Given the description of an element on the screen output the (x, y) to click on. 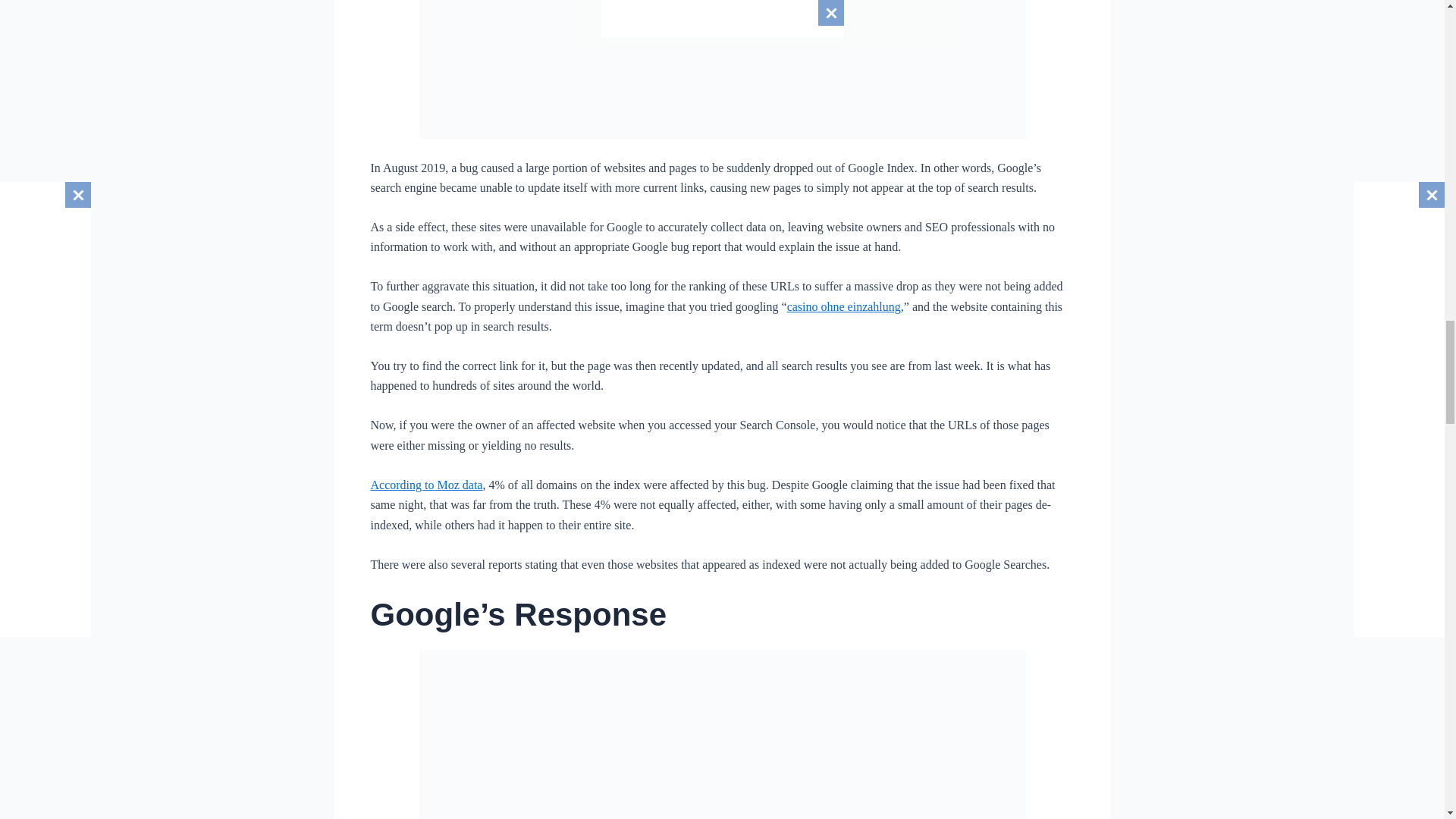
casino ohne einzahlung (844, 306)
Moz data (457, 484)
According (397, 484)
